Given the description of an element on the screen output the (x, y) to click on. 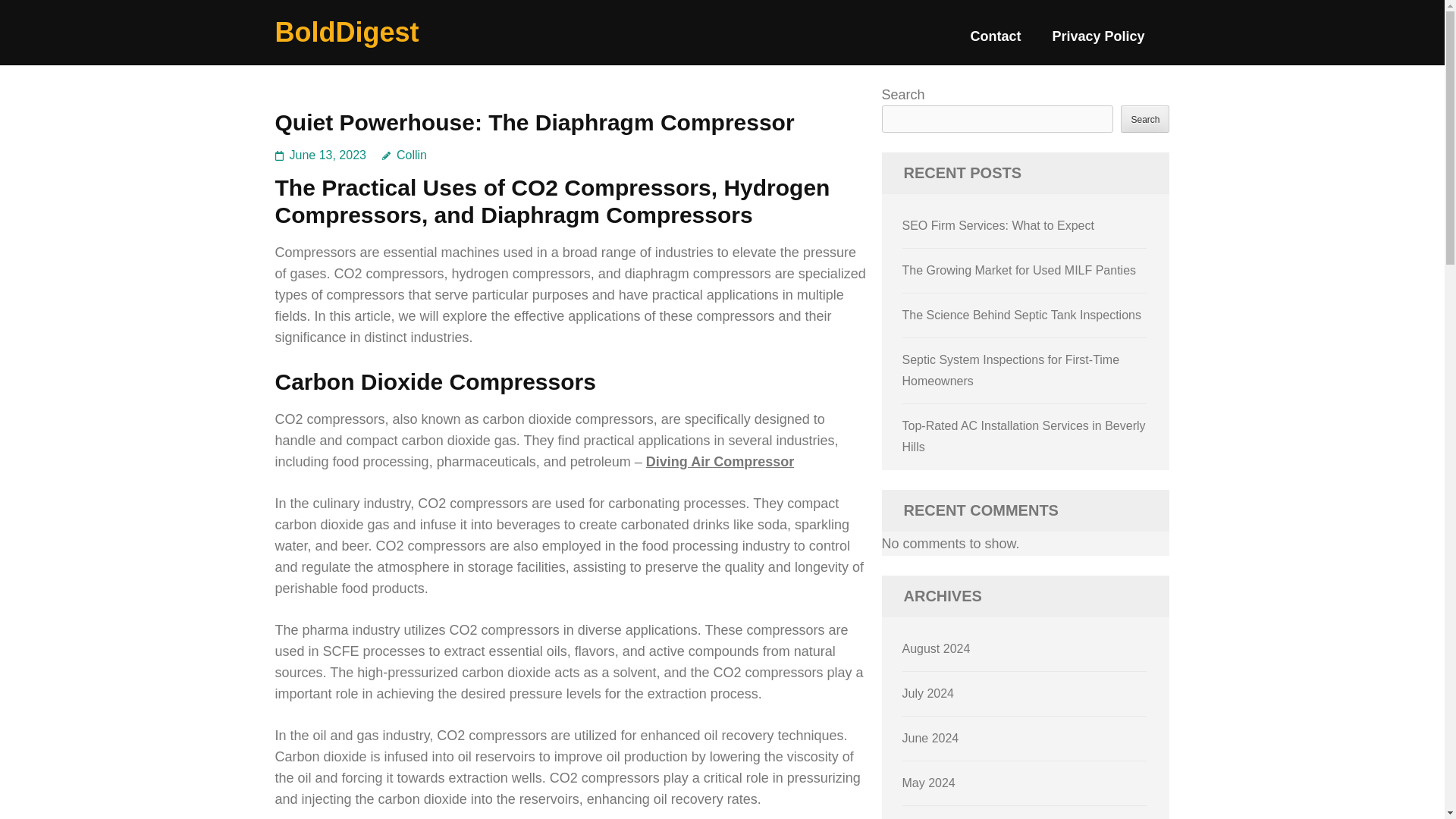
July 2024 (928, 693)
June 13, 2023 (327, 154)
BoldDigest (347, 31)
Search (1145, 118)
Privacy Policy (1097, 42)
Diving Air Compressor (719, 461)
SEO Firm Services: What to Expect (998, 225)
August 2024 (936, 648)
Septic System Inspections for First-Time Homeowners (1010, 369)
Collin (403, 154)
